Given the description of an element on the screen output the (x, y) to click on. 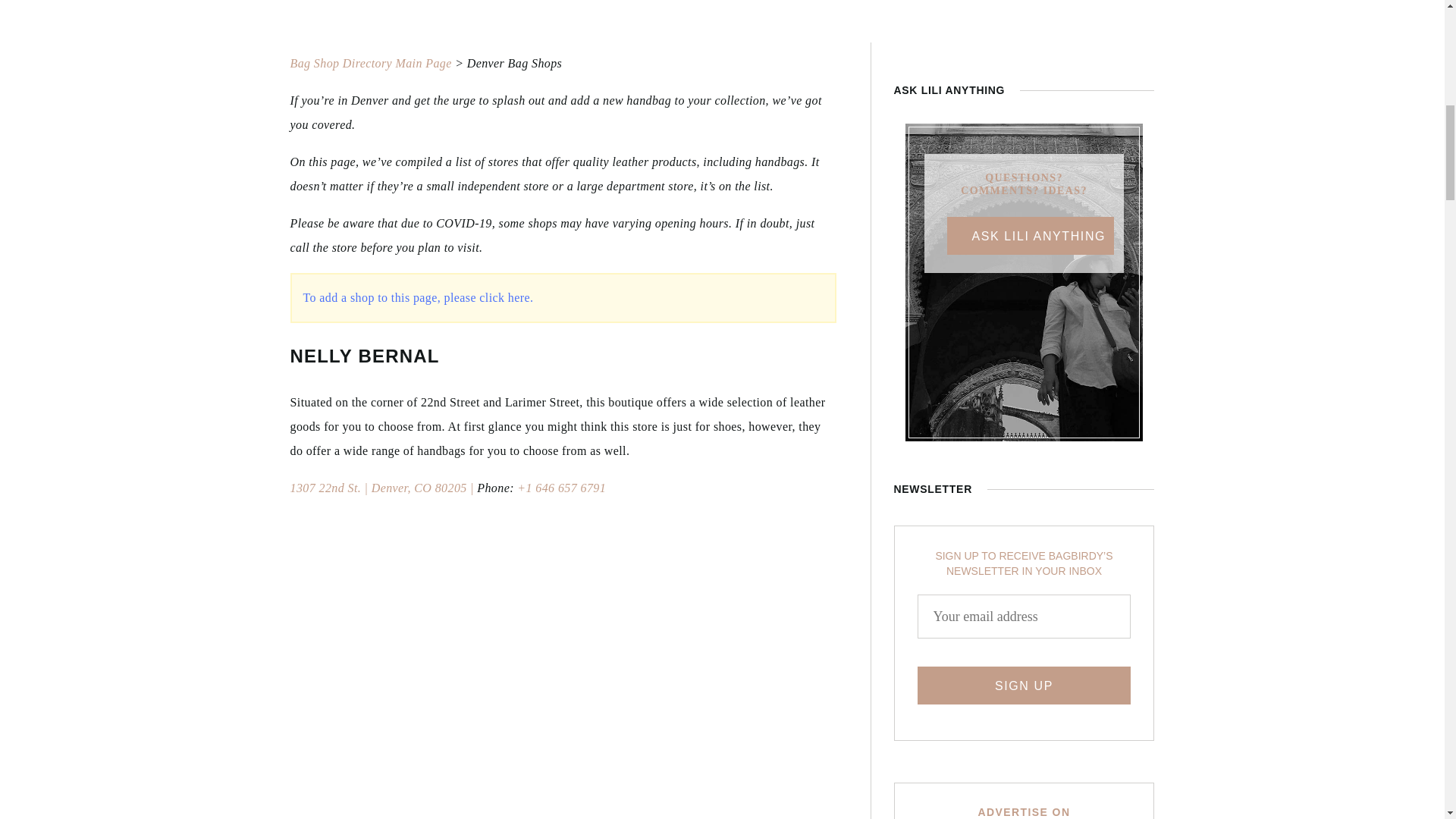
Bag Shop Directory Main Page (370, 62)
To add a shop to this page, please click here. (418, 297)
Sign up (1024, 685)
